Given the description of an element on the screen output the (x, y) to click on. 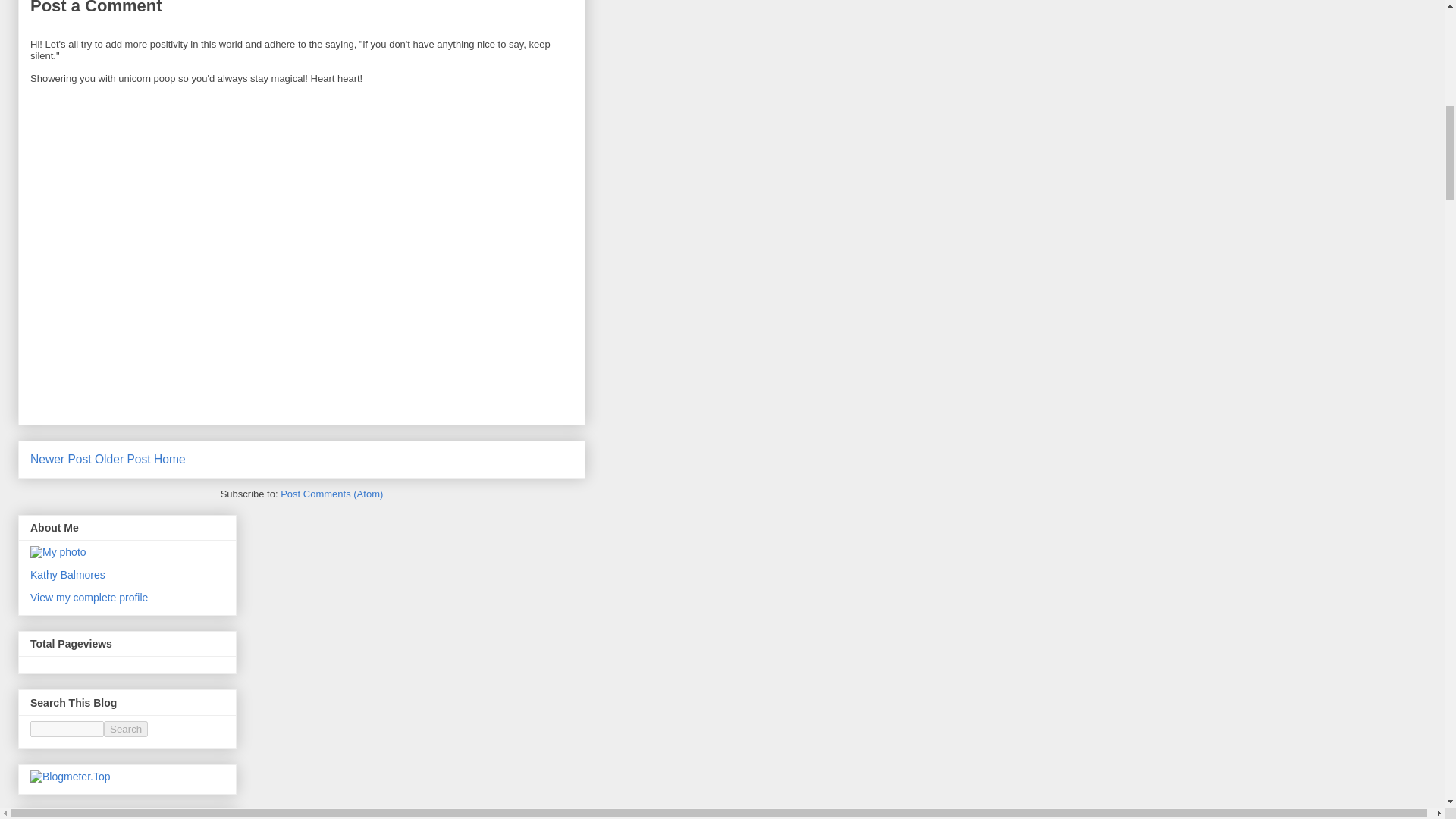
Older Post (122, 459)
Home (170, 459)
search (125, 729)
Older Post (122, 459)
Newer Post (60, 459)
search (66, 729)
Search (125, 729)
Kathy Balmores (67, 574)
Search (125, 729)
View my complete profile (89, 597)
Newer Post (60, 459)
Search (125, 729)
